Given the description of an element on the screen output the (x, y) to click on. 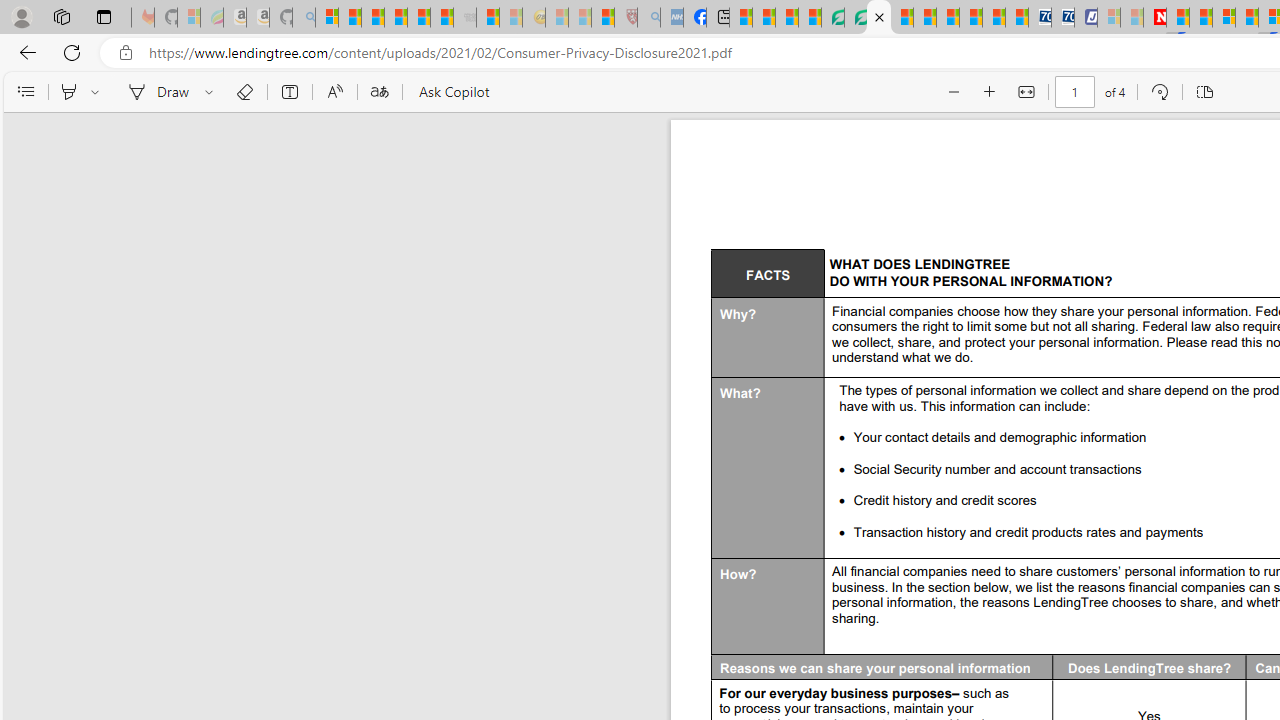
Combat Siege - Sleeping (465, 17)
Zoom in (Ctrl+Plus key) (989, 92)
Draw (155, 92)
Microsoft Word - consumer-privacy address update 2.2021 (878, 17)
Page number (1073, 92)
Cheap Car Rentals - Save70.com (1039, 17)
Contents (25, 92)
Trusted Community Engagement and Contributions | Guidelines (1178, 17)
Microsoft Start - Sleeping (1132, 17)
Rotate (Ctrl+]) (1159, 92)
Translate (379, 92)
Stocks - MSN (442, 17)
Recipes - MSN - Sleeping (557, 17)
